Given the description of an element on the screen output the (x, y) to click on. 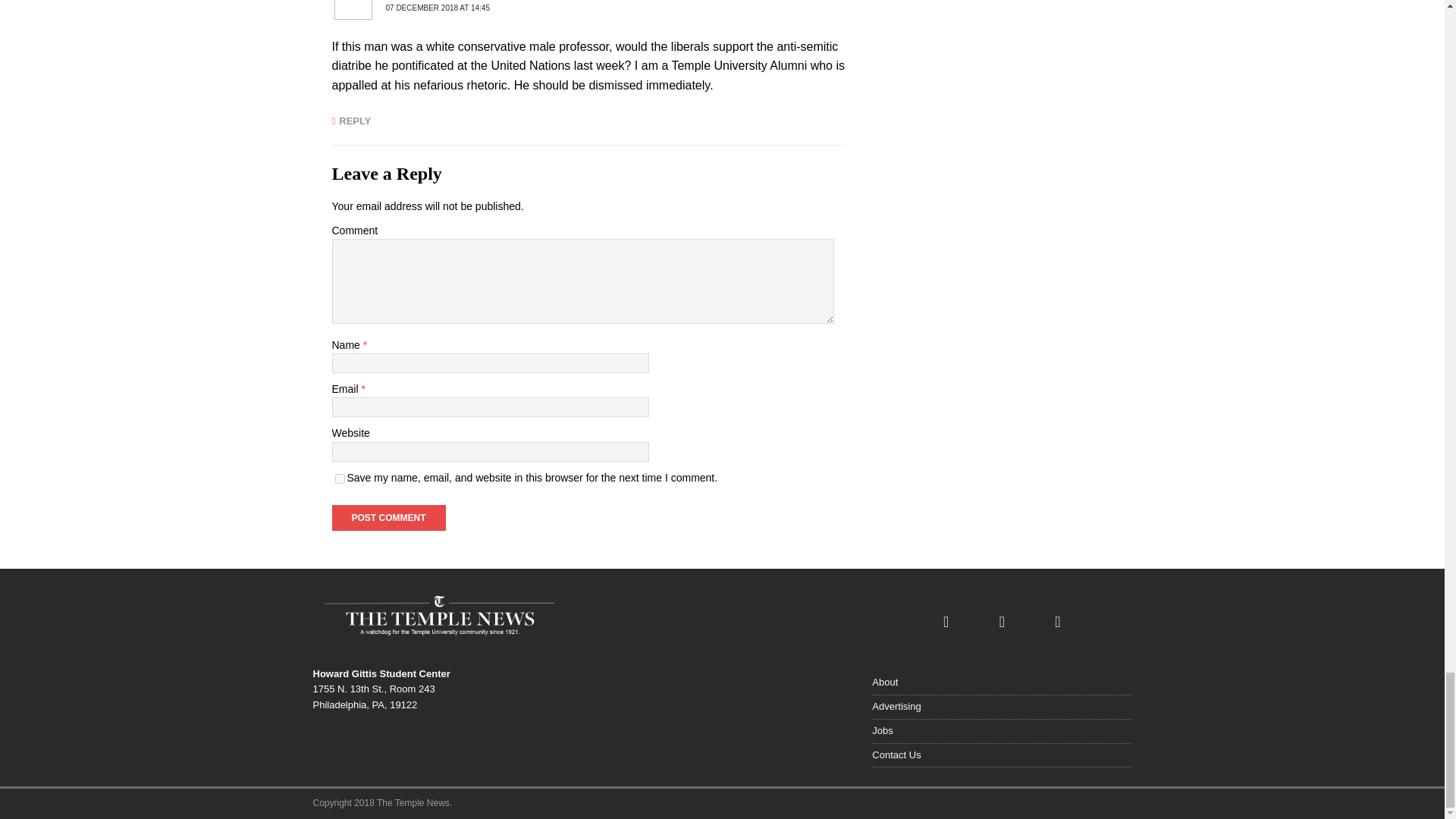
yes (339, 479)
Post Comment (388, 517)
